Given the description of an element on the screen output the (x, y) to click on. 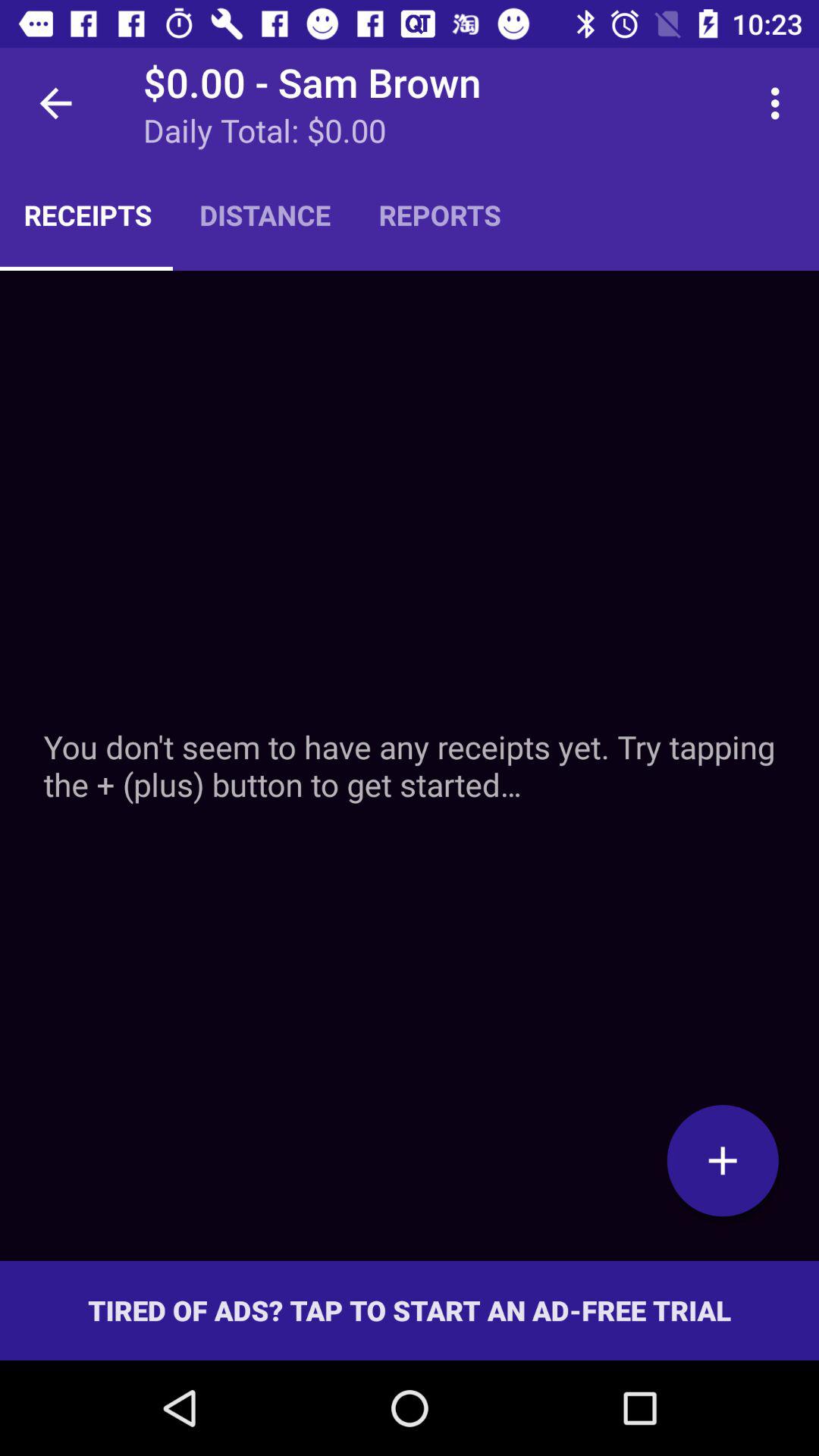
press icon next to the reports item (779, 103)
